Given the description of an element on the screen output the (x, y) to click on. 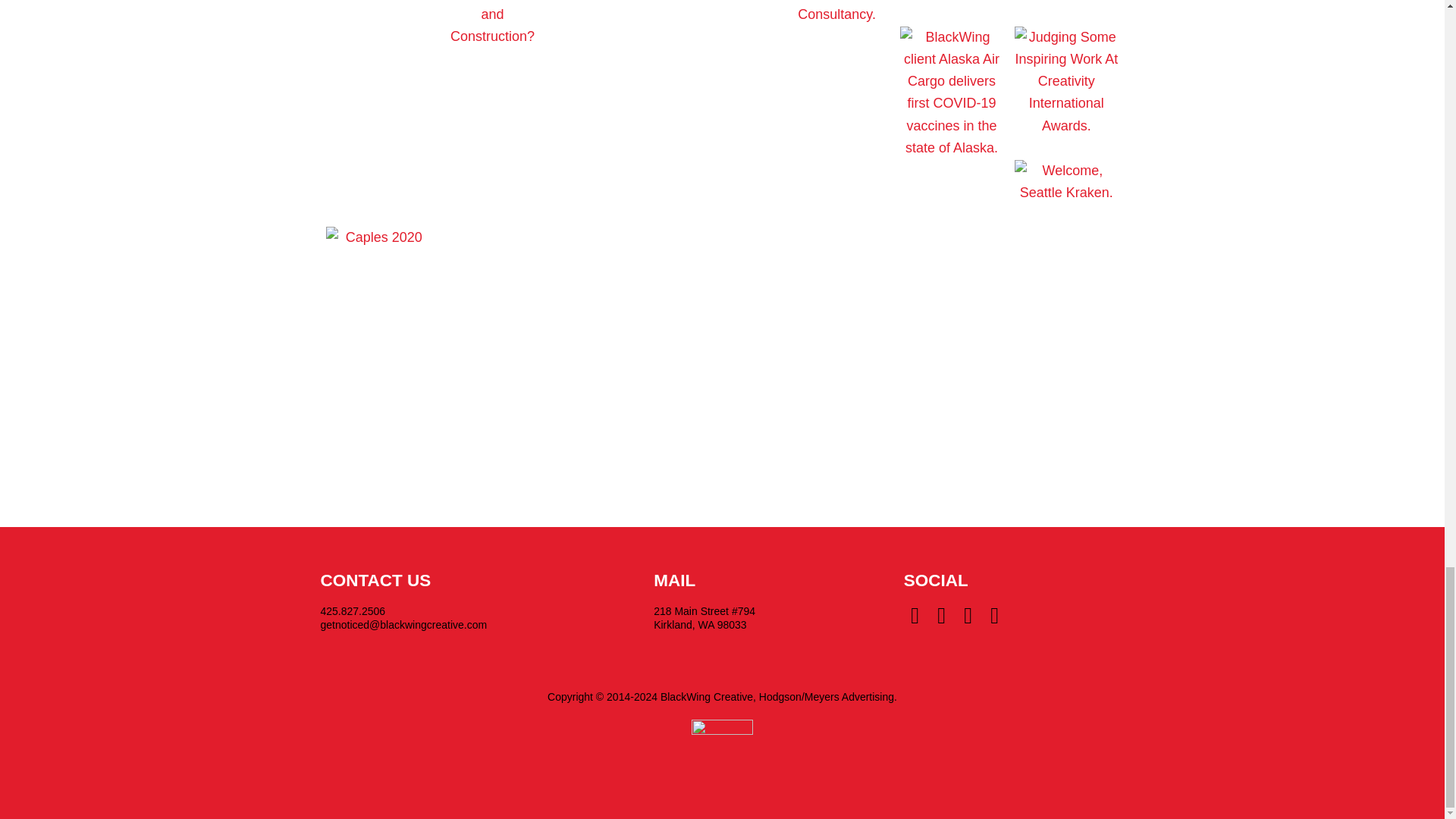
Welcome, Seattle Kraken. (1066, 192)
A Bold New Brand For A Thriving Healthcare Consultancy. (836, 14)
